Given the description of an element on the screen output the (x, y) to click on. 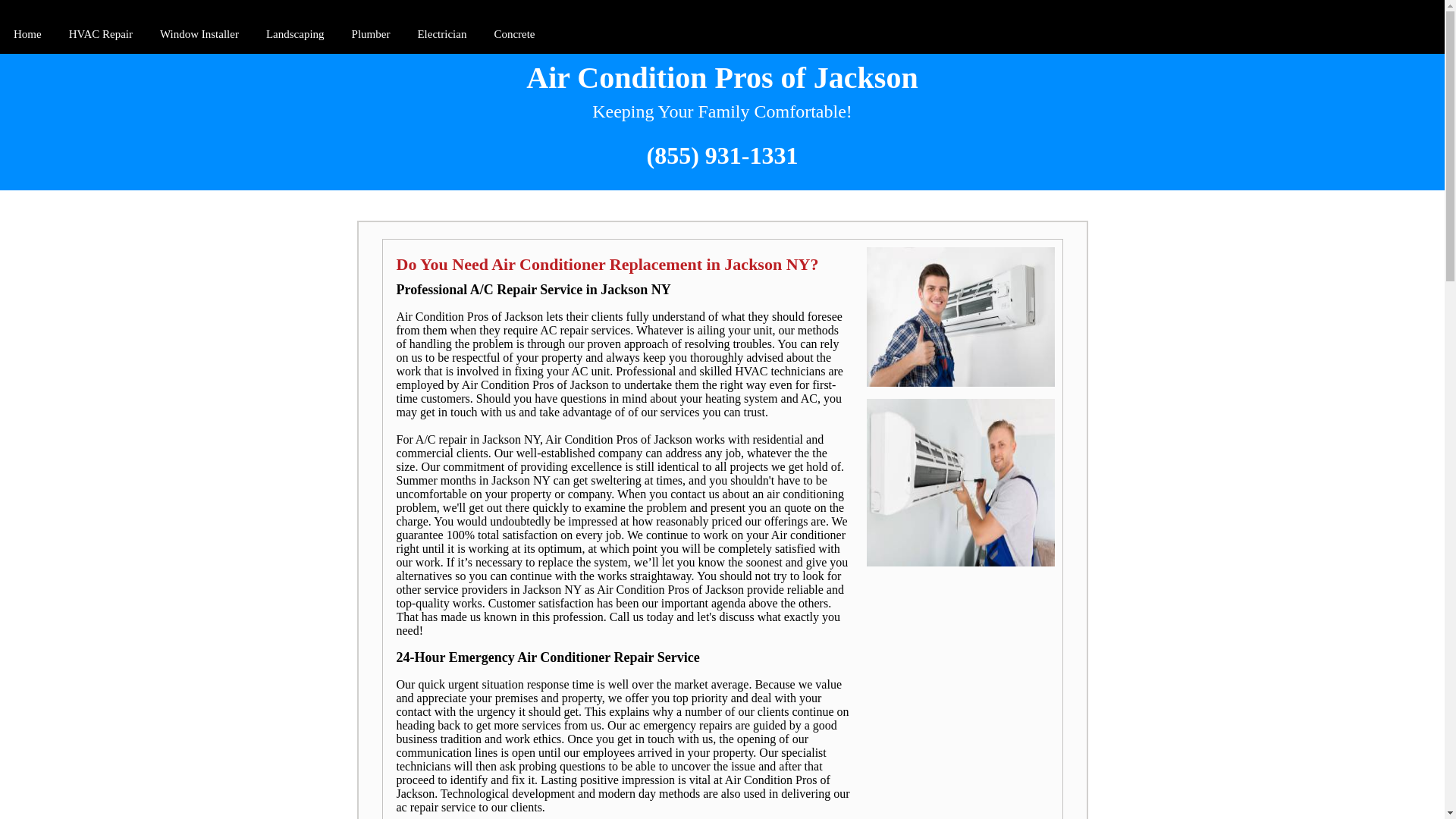
Plumber (370, 34)
HVAC Repair (100, 34)
Concrete (513, 34)
Home (27, 34)
Landscaping (295, 34)
Air Condition Pros of Jackson (721, 77)
Electrician (441, 34)
Window Installer (199, 34)
